Given the description of an element on the screen output the (x, y) to click on. 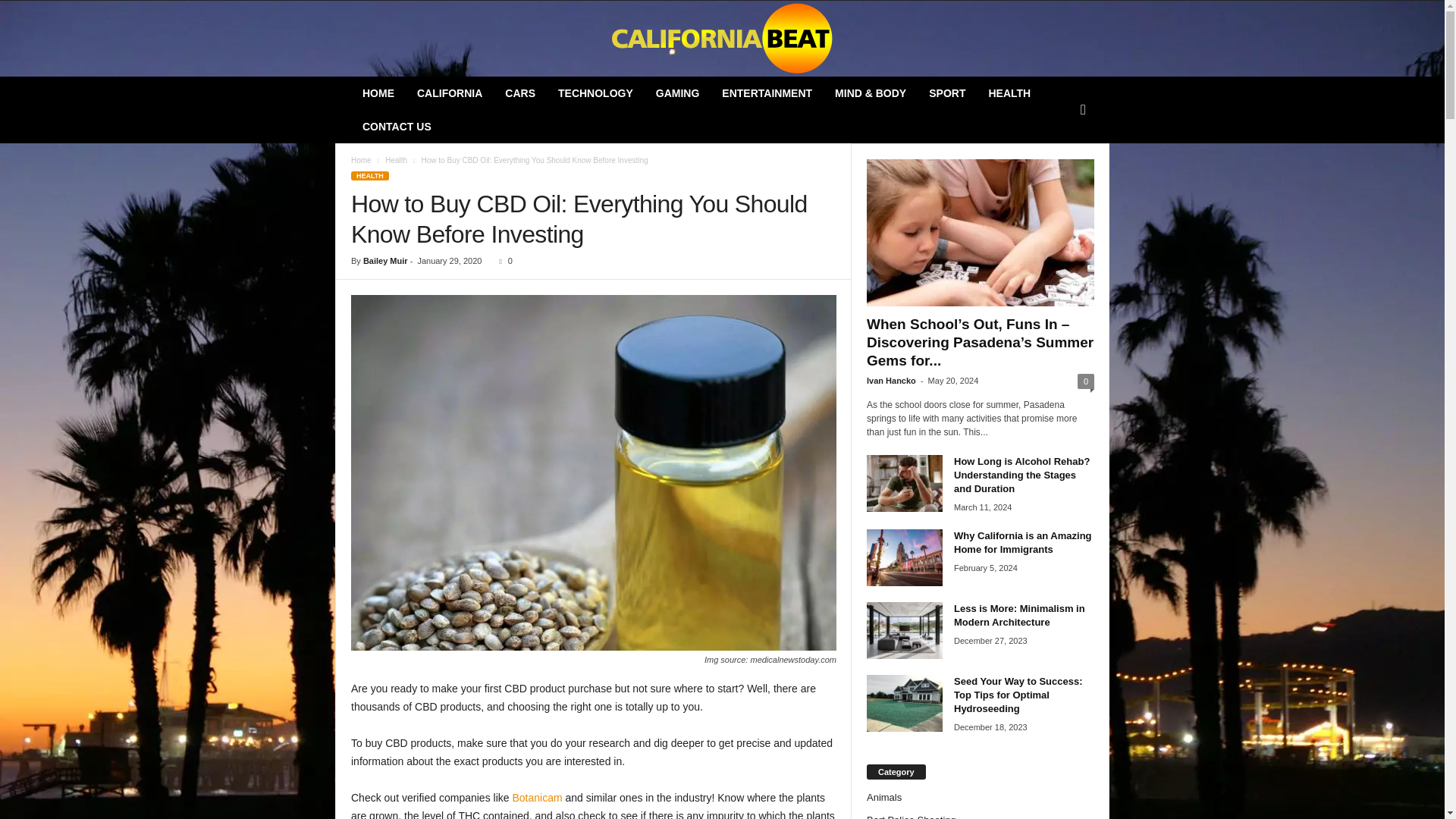
HOME (378, 92)
CALIFORNIA (449, 92)
TECHNOLOGY (596, 92)
Home (360, 160)
Botanicam (538, 797)
HEALTH (1009, 92)
Health (396, 160)
ENTERTAINMENT (767, 92)
Bailey Muir (384, 260)
CONTACT US (396, 126)
GAMING (678, 92)
HEALTH (369, 175)
0 (502, 260)
View all posts in Health (396, 160)
